Given the description of an element on the screen output the (x, y) to click on. 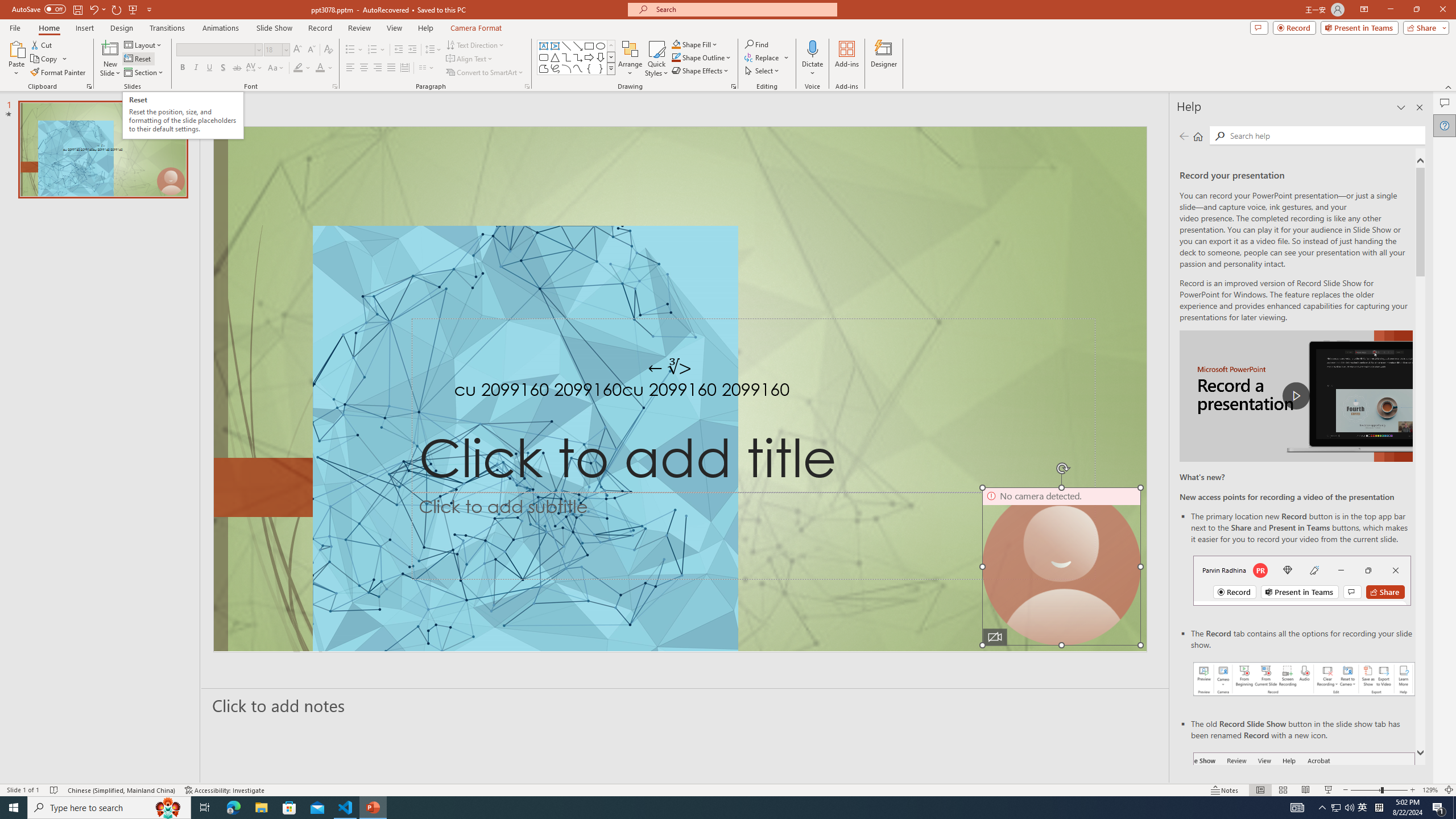
Freeform: Scribble (554, 68)
Justify (390, 67)
AutomationID: ShapesInsertGallery (576, 57)
Increase Indent (412, 49)
Arrange (630, 58)
Arrow: Right (589, 57)
Font (219, 49)
play Record a Presentation (1296, 395)
Format Object... (733, 85)
Copy (45, 58)
Rectangle (589, 45)
Quick Styles (656, 58)
